Given the description of an element on the screen output the (x, y) to click on. 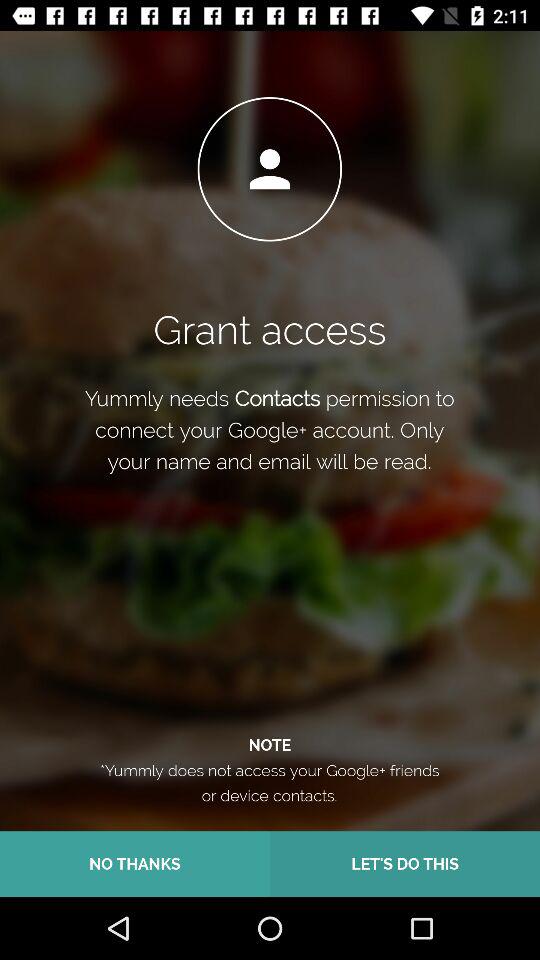
choose the icon at the bottom right corner (405, 863)
